Given the description of an element on the screen output the (x, y) to click on. 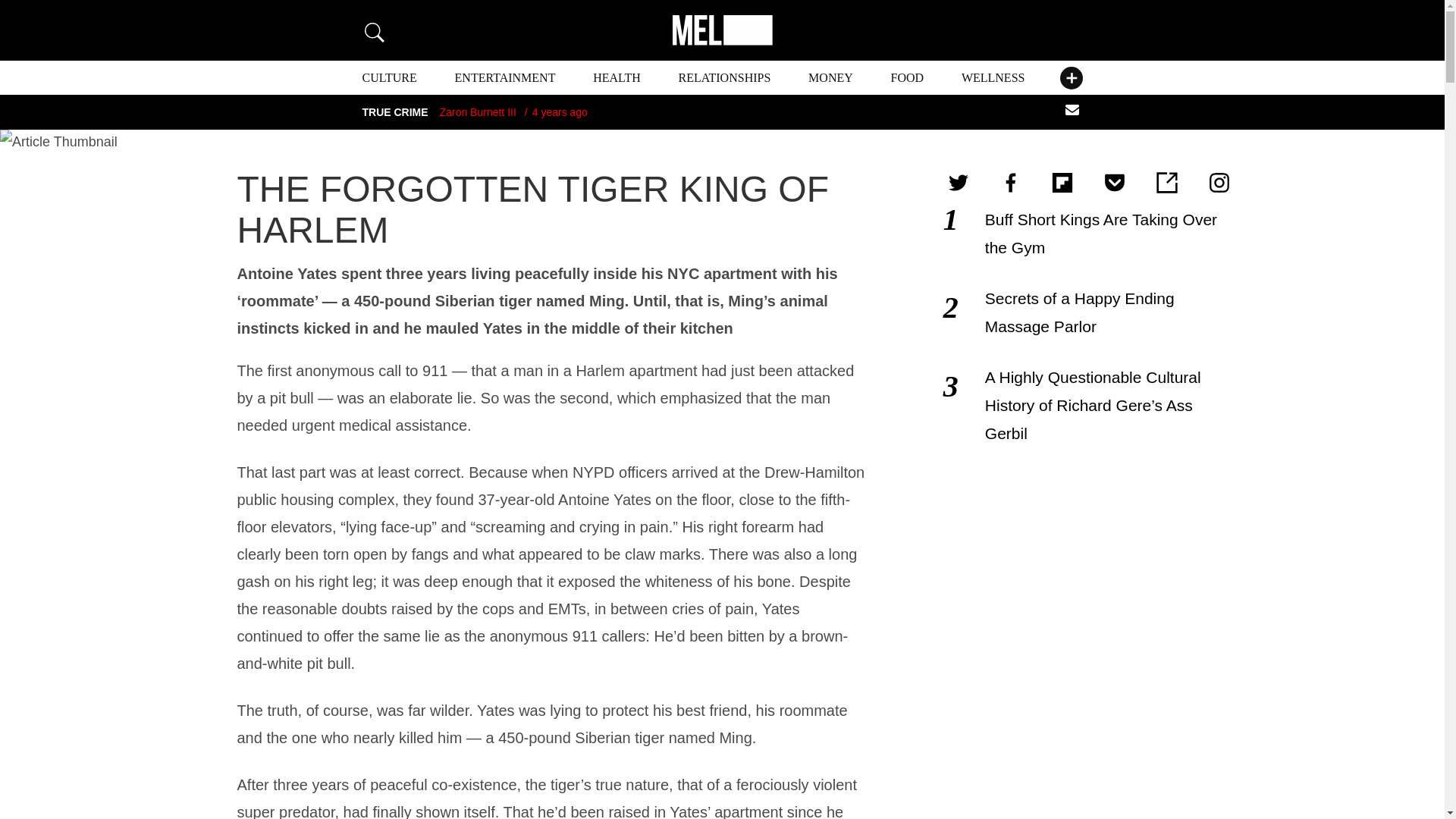
WELLNESS (992, 77)
Posts by Zaron Burnett III (477, 111)
MEL Magazine (721, 30)
MONEY (830, 77)
ENTERTAINMENT (505, 77)
RELATIONSHIPS (724, 77)
HEALTH (616, 77)
Copy Link (1166, 182)
CULTURE (389, 77)
Pocket (1114, 182)
